Given the description of an element on the screen output the (x, y) to click on. 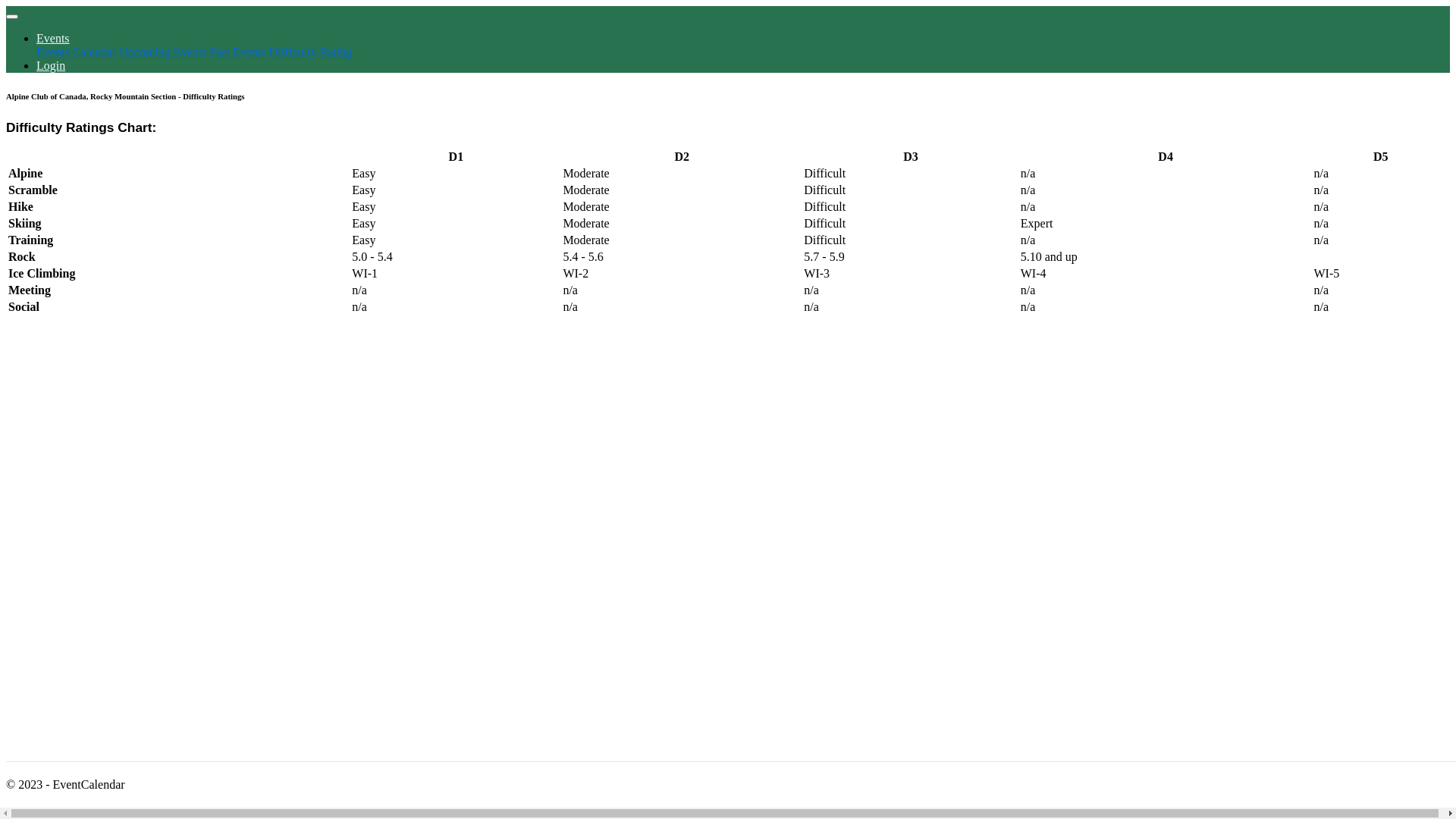
Login Element type: text (50, 65)
Events Calendar Element type: text (76, 51)
Upcoming Events Element type: text (162, 51)
Events Element type: text (52, 37)
Past Events Element type: text (237, 51)
Difficulty Rating Element type: text (310, 51)
